Given the description of an element on the screen output the (x, y) to click on. 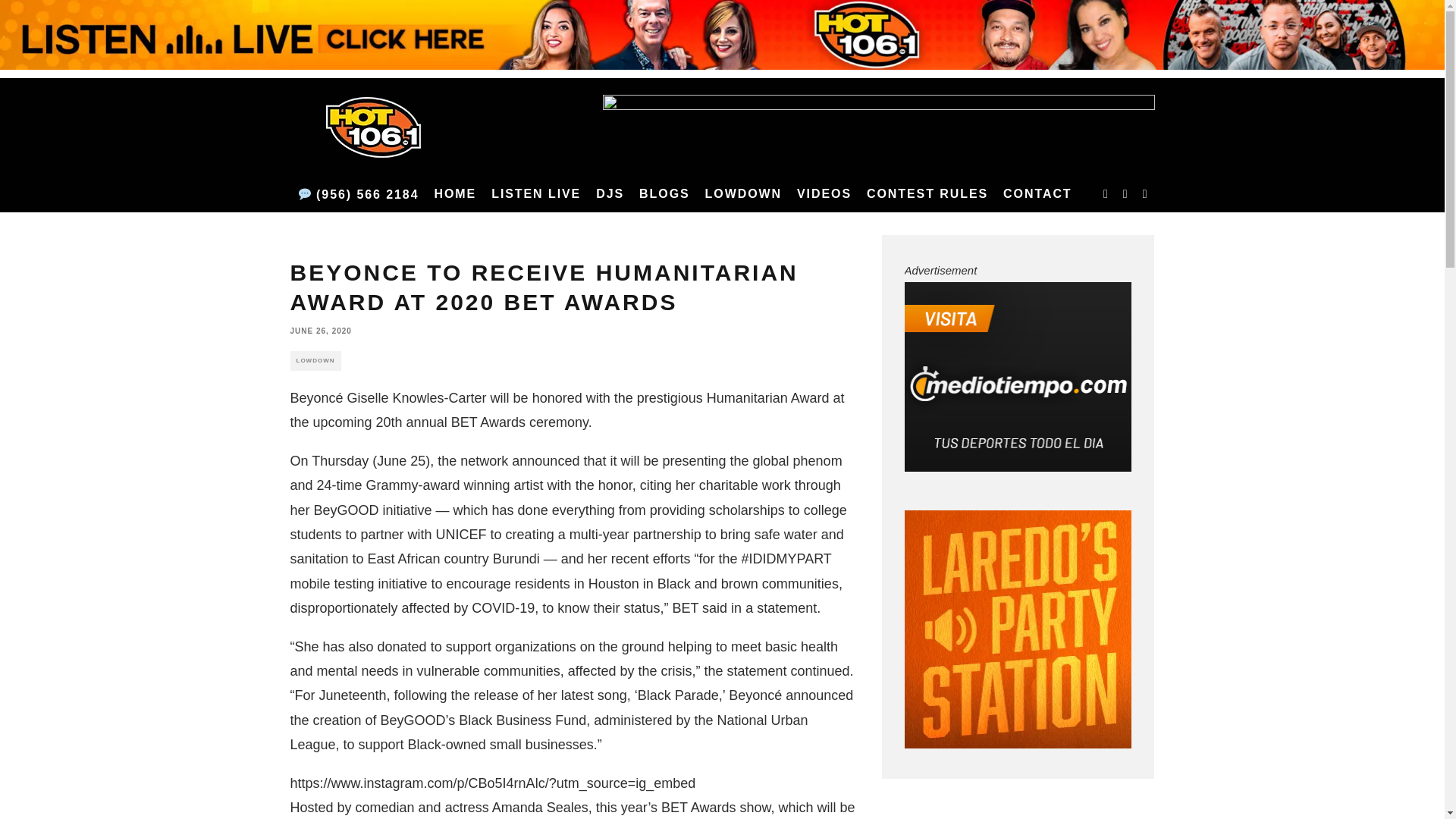
DJS (609, 193)
LOWDOWN (743, 193)
VIDEOS (824, 193)
LISTEN LIVE (535, 193)
BLOGS (664, 193)
CONTEST RULES (927, 193)
HOME (454, 193)
